Given the description of an element on the screen output the (x, y) to click on. 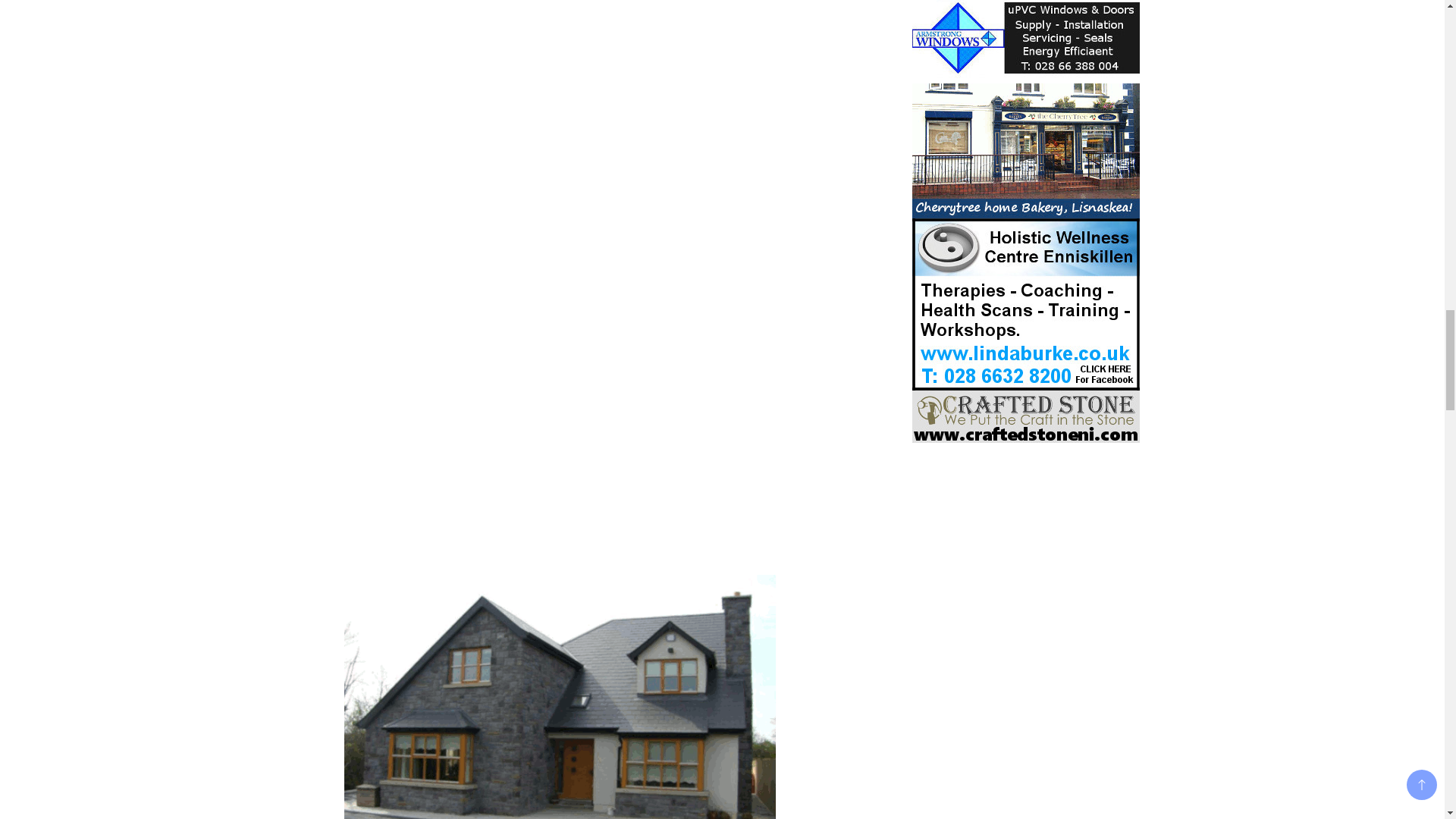
Advertisement (362, 110)
